Given the description of an element on the screen output the (x, y) to click on. 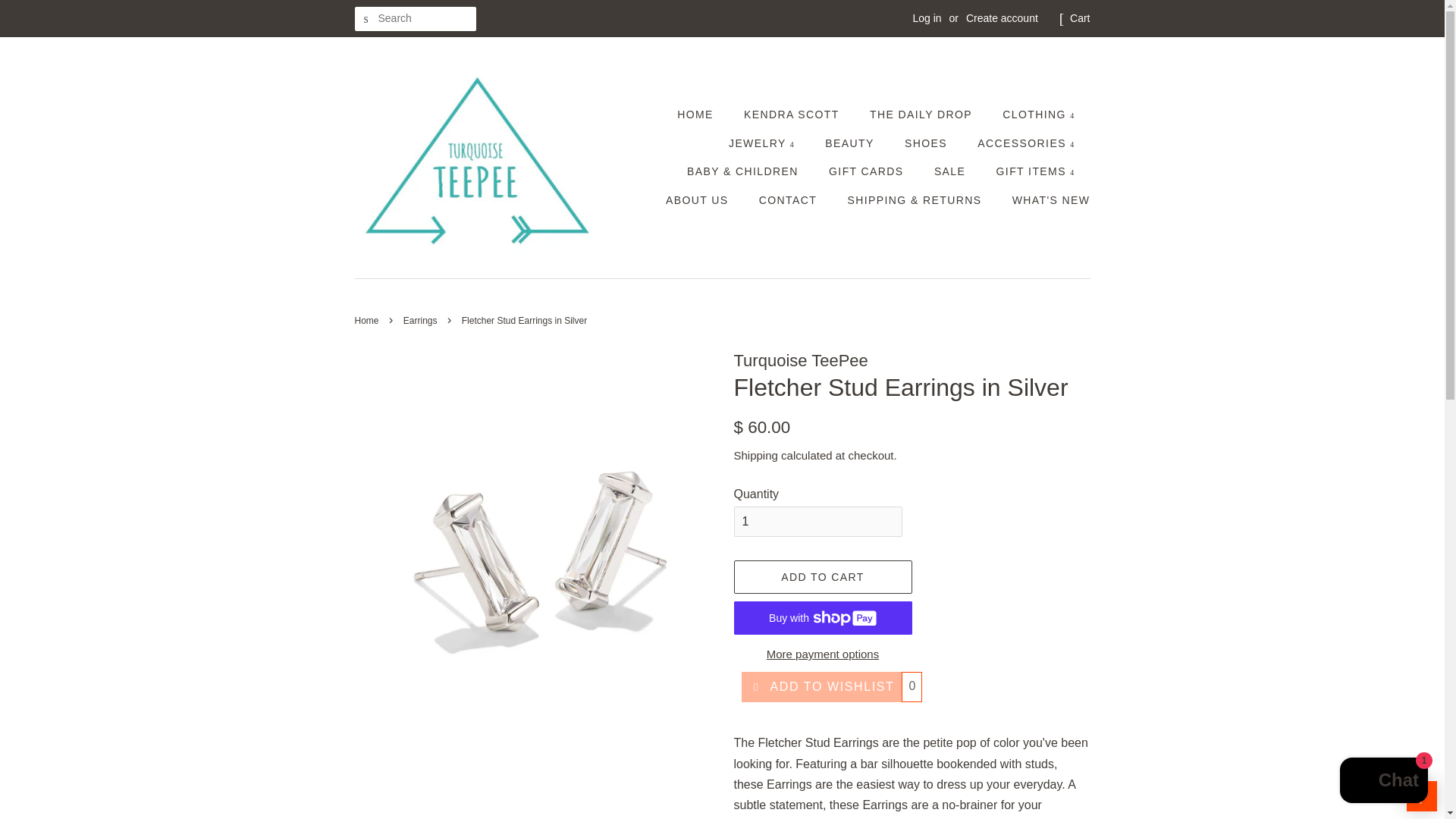
Cart (1079, 18)
SEARCH (366, 18)
Shopify online store chat (1383, 781)
Back to the frontpage (368, 320)
Create account (1002, 18)
Log in (927, 18)
1 (817, 521)
